Given the description of an element on the screen output the (x, y) to click on. 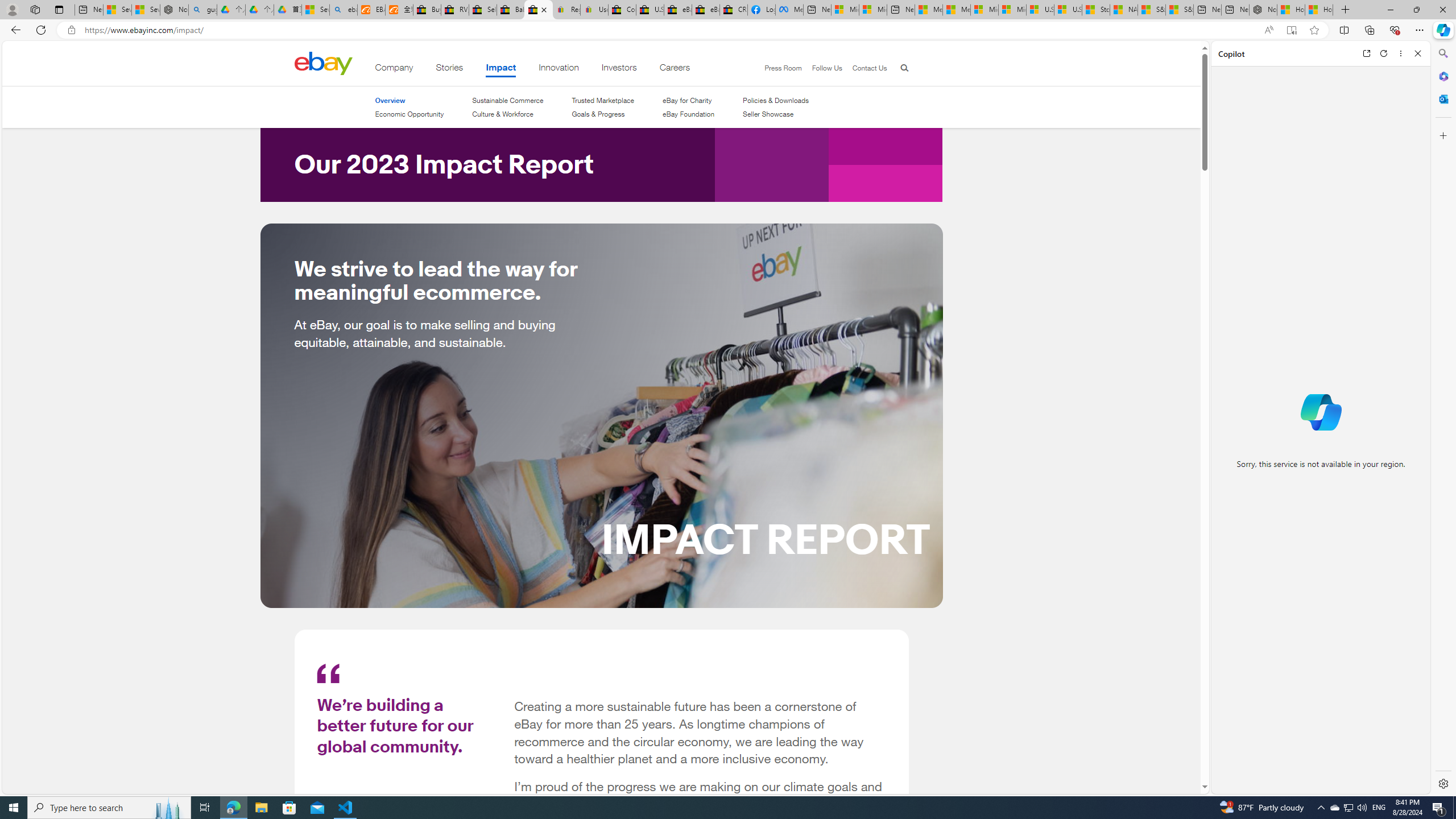
Press Room (783, 67)
Follow Us (826, 67)
Goals & Progress (603, 113)
More options (1401, 53)
Impact (501, 69)
Log into Facebook (761, 9)
eBay Foundation (688, 113)
Add this page to favorites (Ctrl+D) (1314, 29)
Baby Keepsakes & Announcements for sale | eBay (510, 9)
eBay Impact - eBay Inc. (538, 9)
Company (393, 69)
Restore (1416, 9)
Culture & Workforce (501, 113)
